Given the description of an element on the screen output the (x, y) to click on. 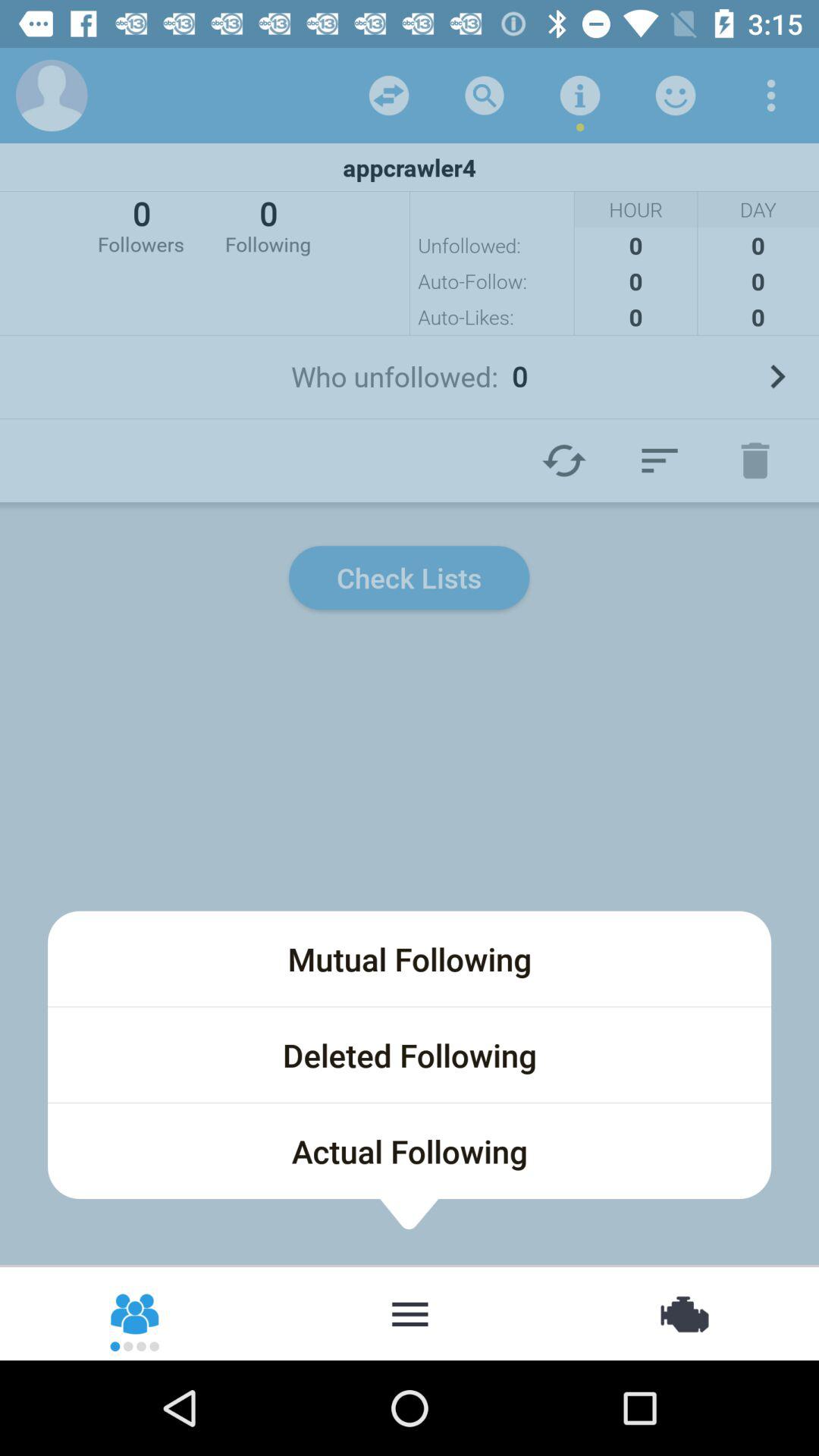
refresh the page (563, 460)
